Given the description of an element on the screen output the (x, y) to click on. 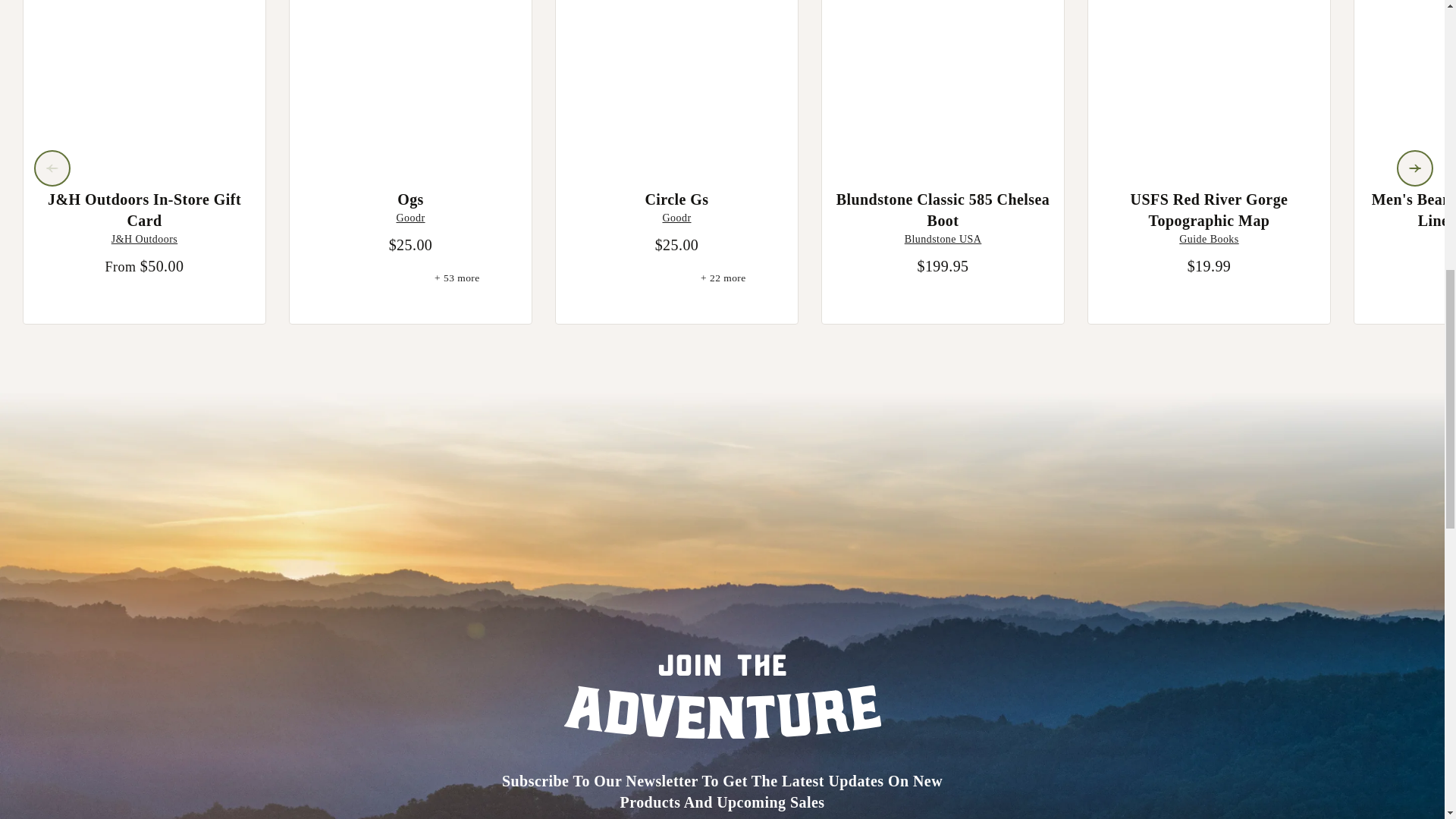
View Ogs (410, 83)
Blundstone USA (942, 238)
Goodr (676, 217)
View USFS Red River Gorge Topographic Map (1209, 83)
View Blundstone Classic 585 Chelsea Boot (942, 83)
Goodr (410, 217)
View Circle Gs (676, 83)
